Given the description of an element on the screen output the (x, y) to click on. 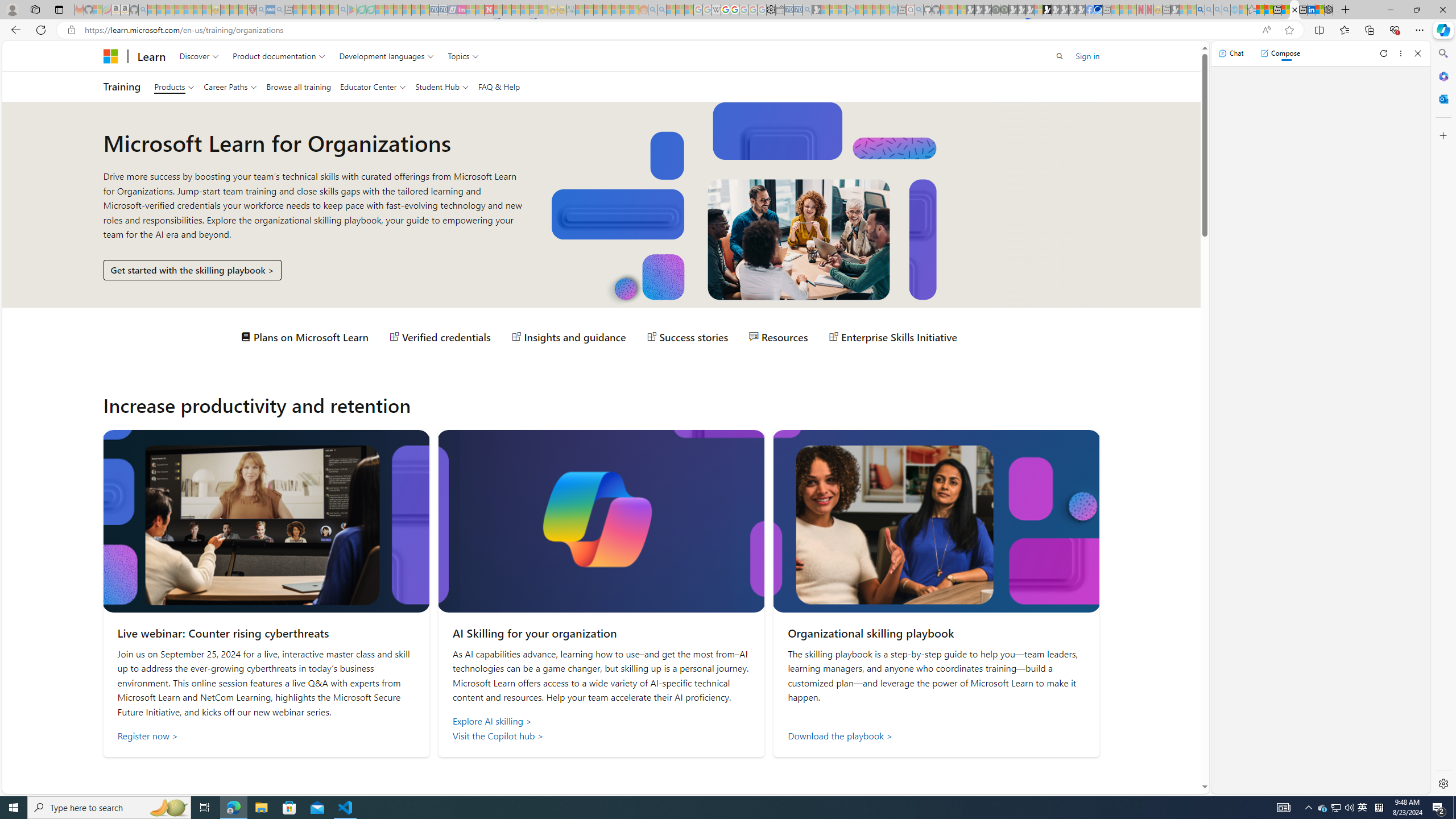
Aberdeen, Hong Kong SAR weather forecast | Microsoft Weather (1268, 9)
Bluey: Let's Play! - Apps on Google Play - Sleeping (352, 9)
Development languages (386, 55)
FAQ & Help (499, 86)
Plans on Microsoft Learn (304, 336)
Nordace | Facebook - Sleeping (1089, 9)
Products (174, 86)
